Given the description of an element on the screen output the (x, y) to click on. 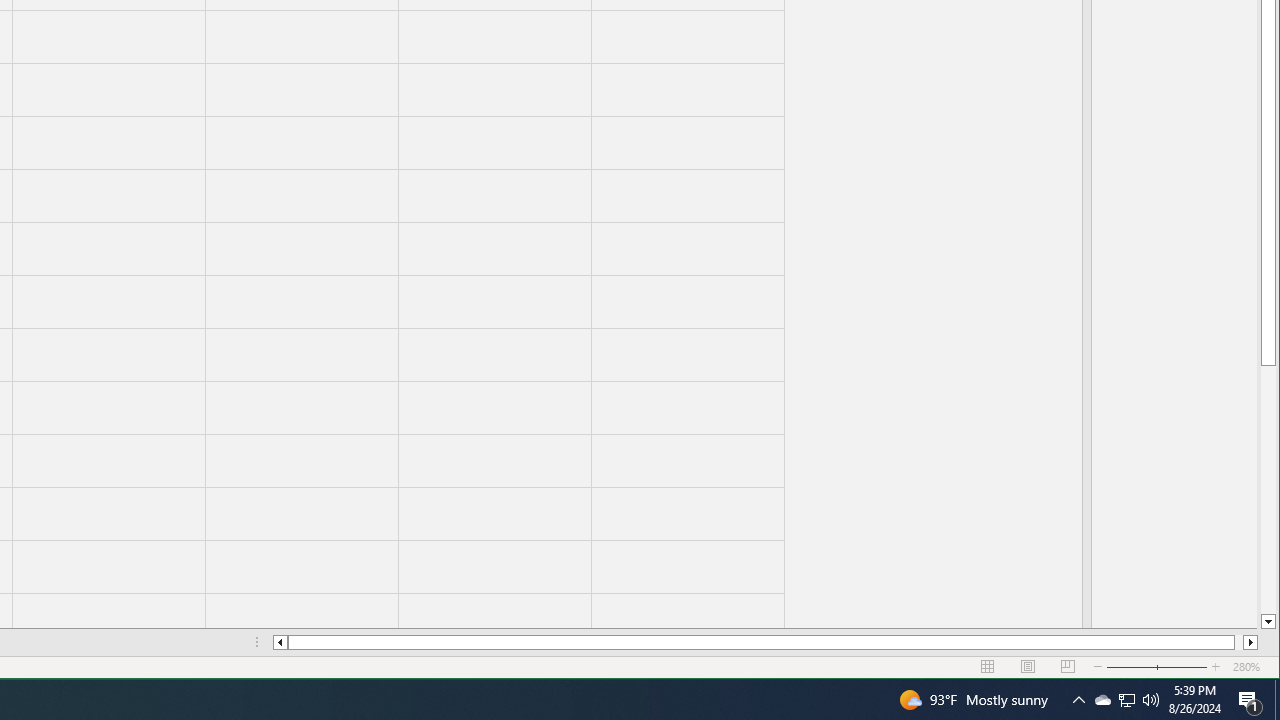
Normal (987, 667)
Page right (1238, 642)
Zoom Out (1126, 699)
Notification Chevron (1144, 667)
